Given the description of an element on the screen output the (x, y) to click on. 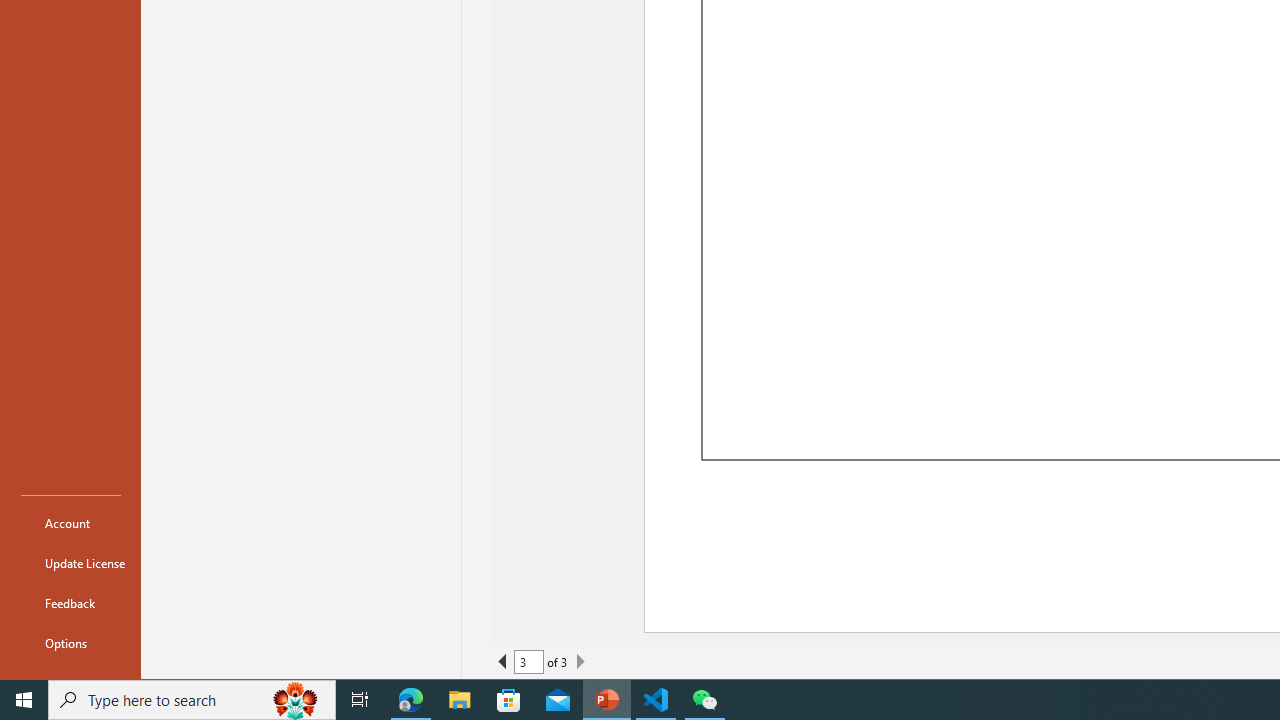
Account (70, 522)
Next Page (580, 661)
Options (70, 642)
Update License (70, 562)
Current Page (528, 661)
Previous Page (502, 661)
